Given the description of an element on the screen output the (x, y) to click on. 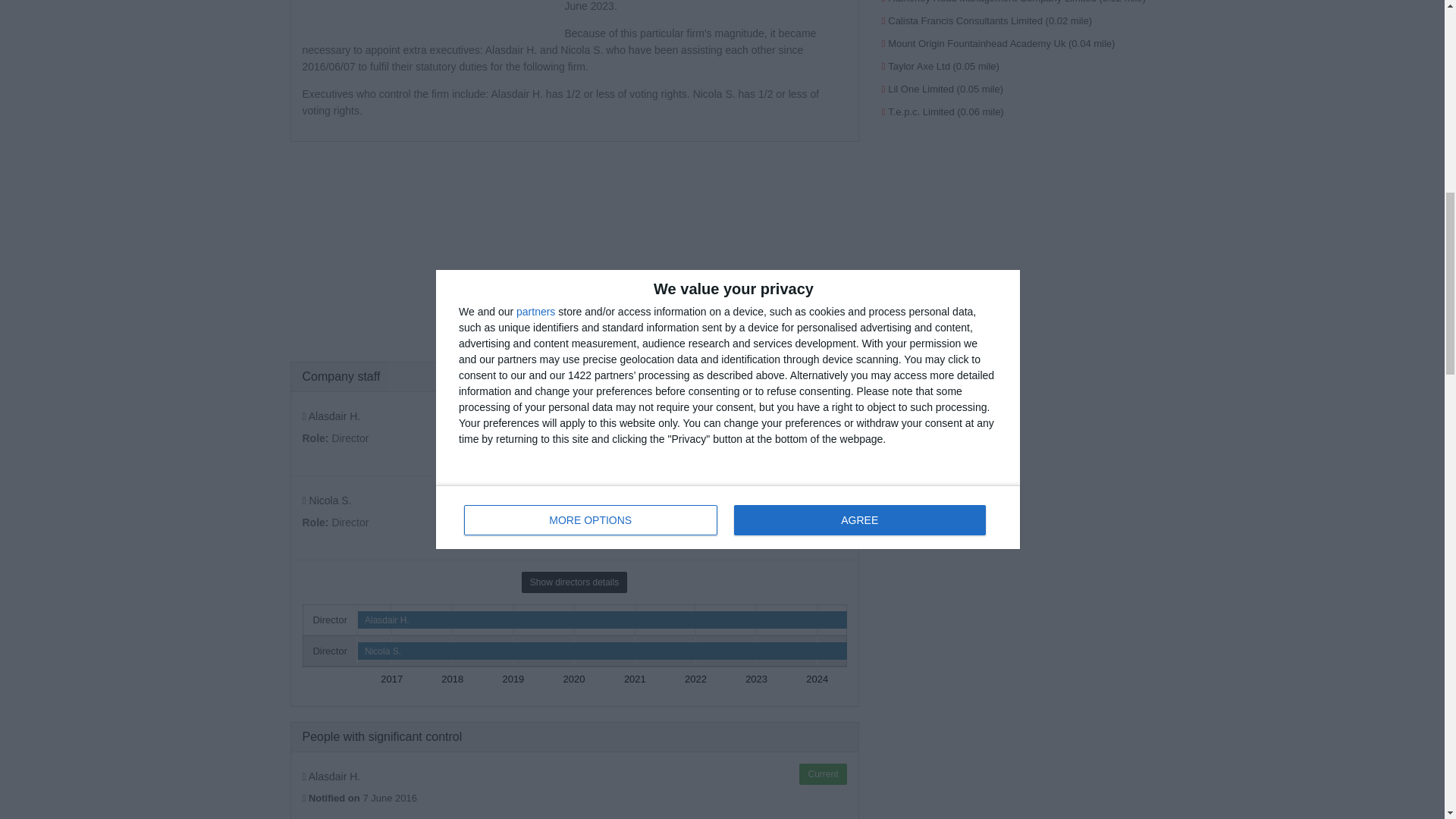
Current (822, 497)
Current (822, 414)
Show directors details (574, 581)
Current (822, 773)
